Given the description of an element on the screen output the (x, y) to click on. 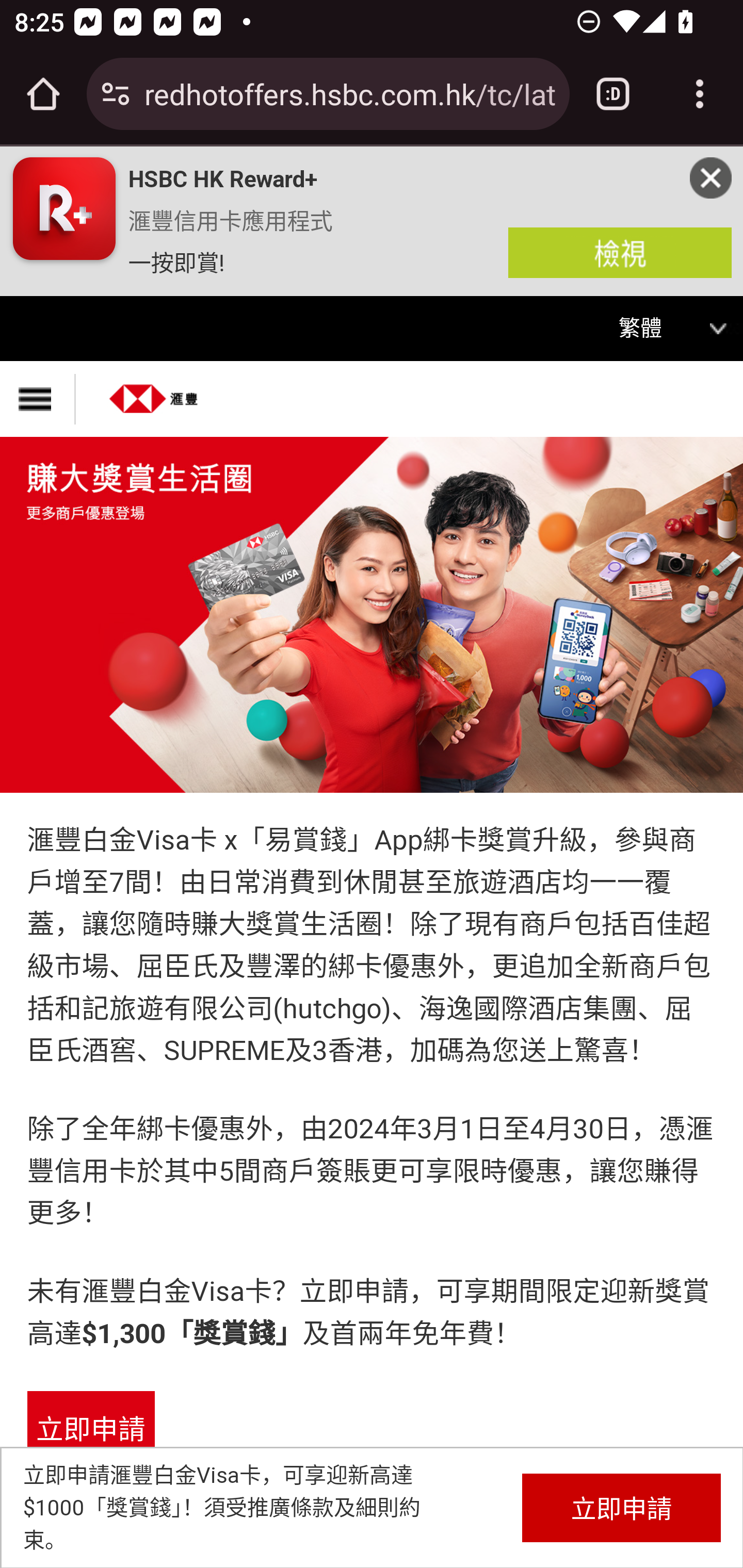
Open the home page (43, 93)
Connection is secure (115, 93)
Switch or close tabs (612, 93)
Customize and control Google Chrome (699, 93)
Close button (711, 177)
Install (620, 252)
繁體 (653, 329)
HSBC (154, 391)
目錄 (37, 398)
立即申請 (90, 1430)
立即申請 (621, 1507)
